Given the description of an element on the screen output the (x, y) to click on. 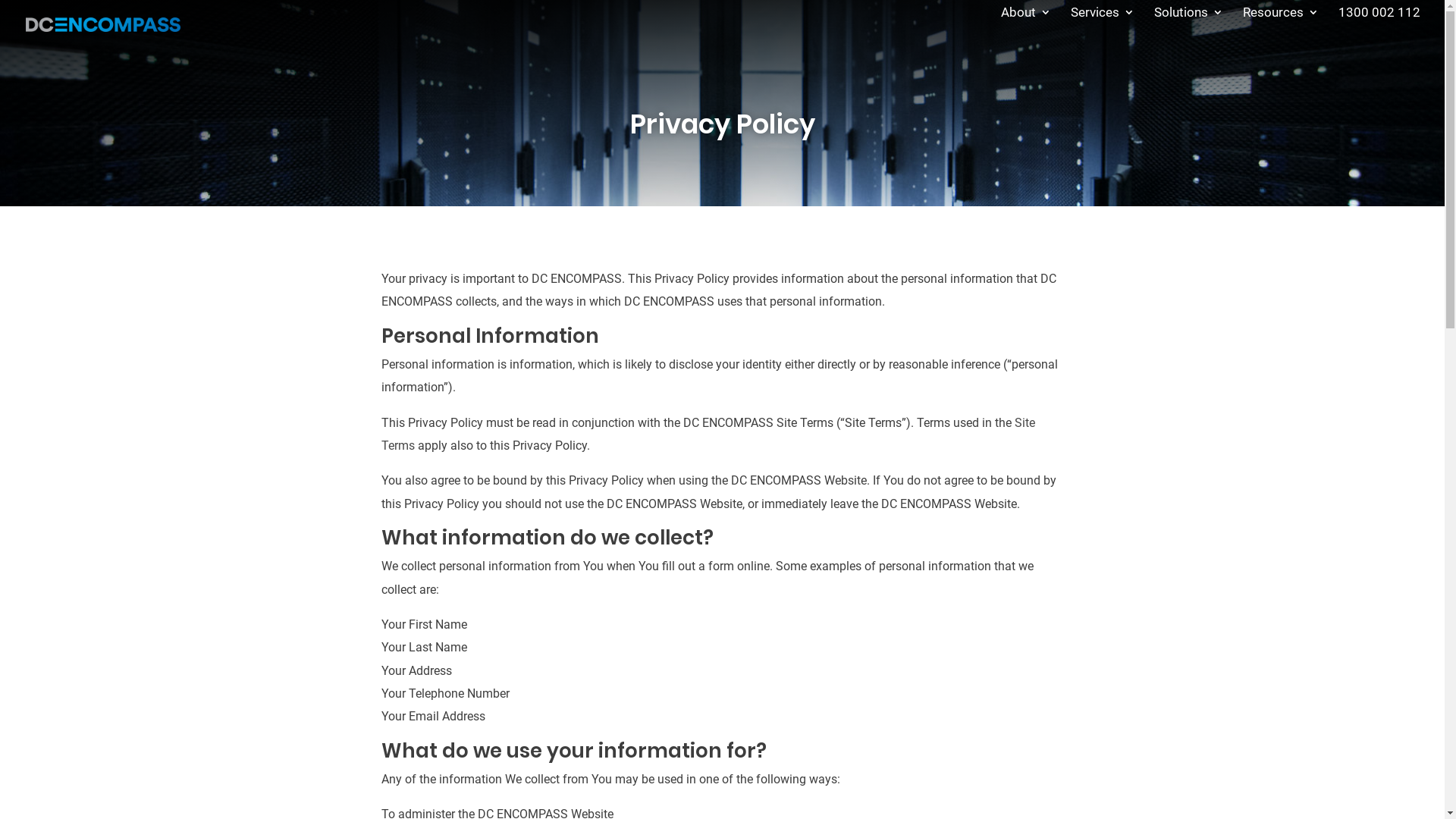
1300 002 112 Element type: text (1379, 24)
About Element type: text (1026, 24)
Resources Element type: text (1280, 24)
Site Terms Element type: text (707, 433)
Solutions Element type: text (1188, 24)
Services Element type: text (1102, 24)
